Given the description of an element on the screen output the (x, y) to click on. 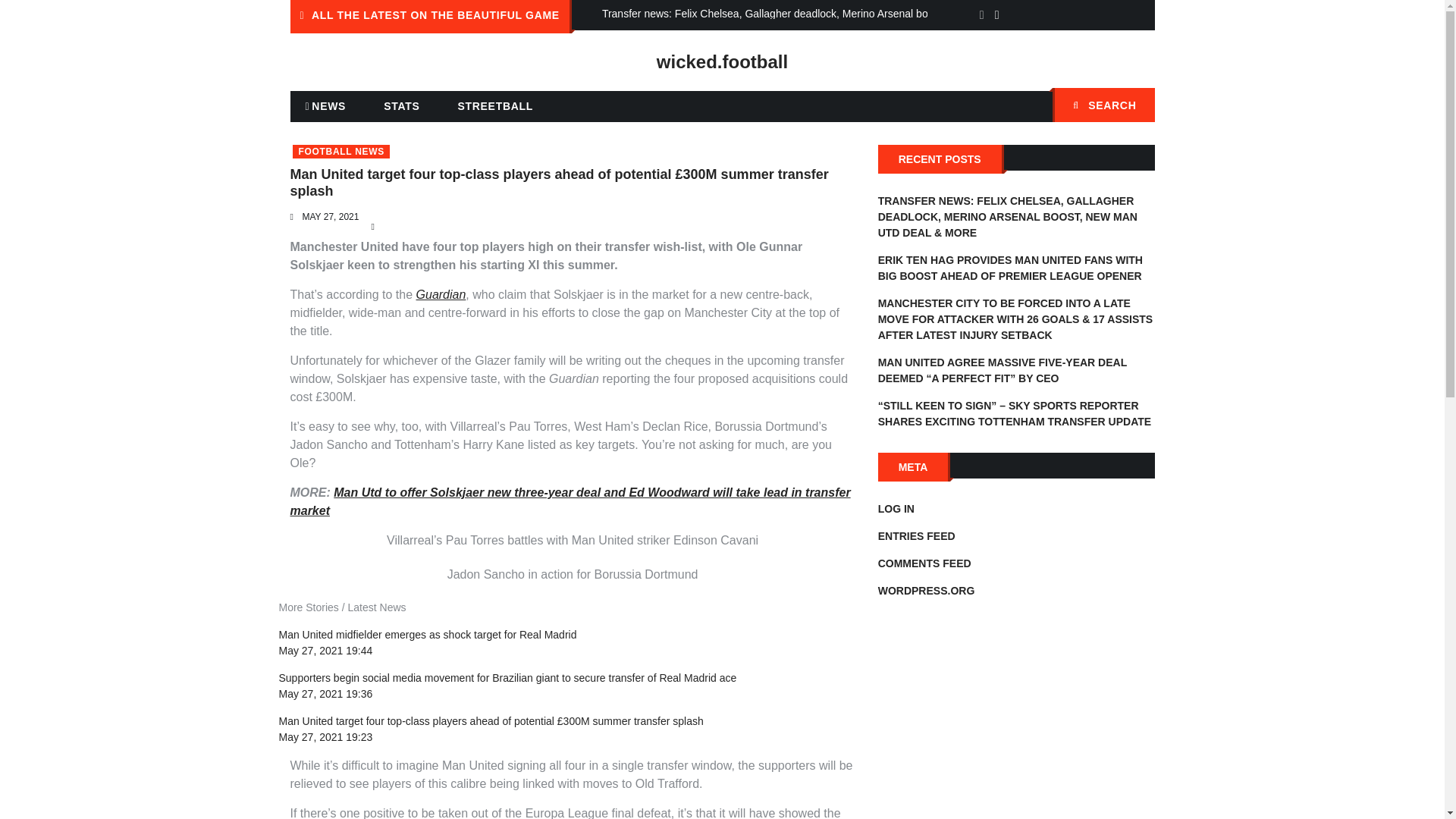
Guardian (440, 294)
wicked.football (721, 61)
Search (1135, 106)
May 27, 2021 19:44 (325, 650)
MAY 27, 2021 (329, 216)
FOOTBALL NEWS (341, 151)
STATS (400, 105)
